Given the description of an element on the screen output the (x, y) to click on. 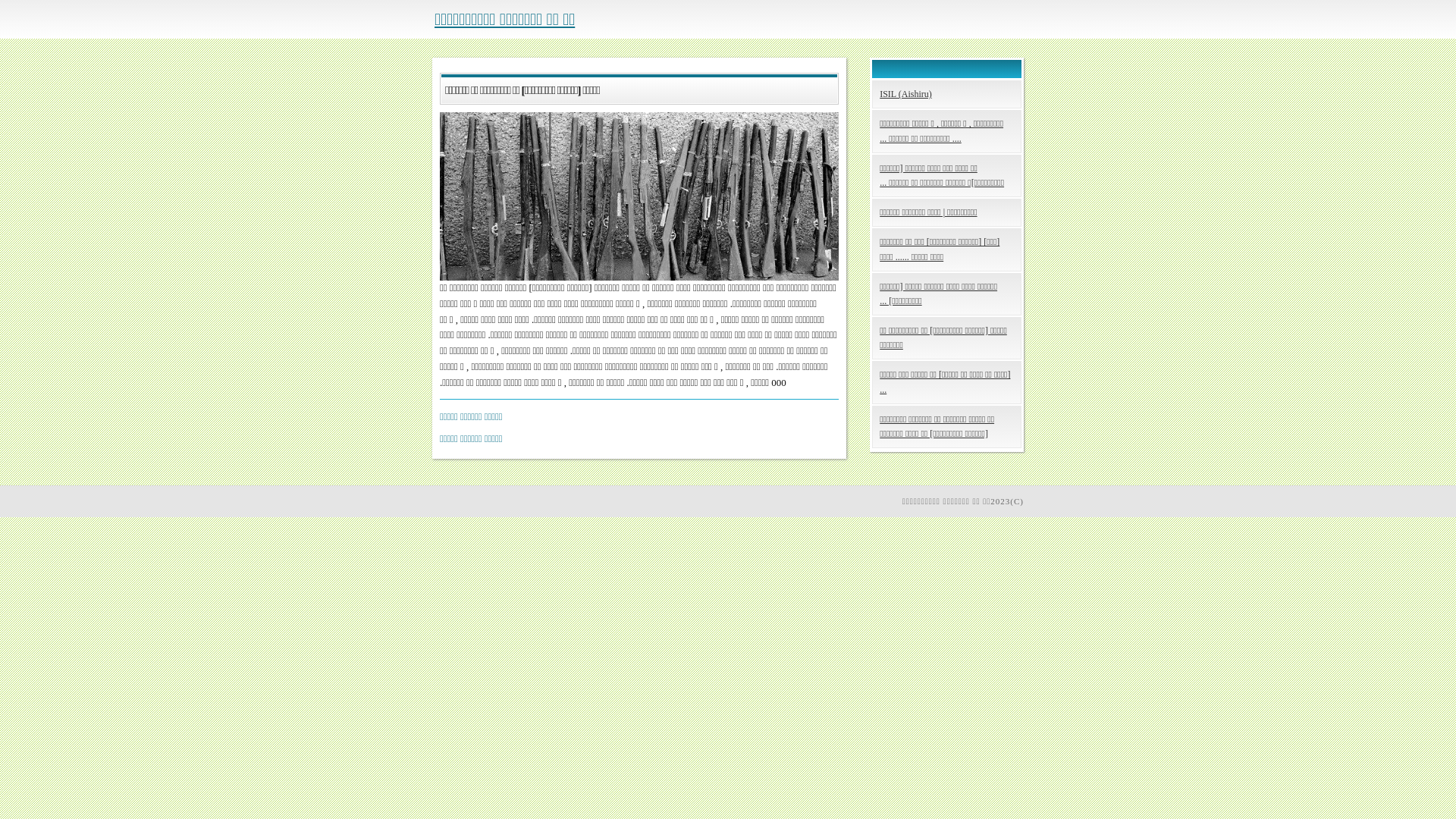
ISIL (Aishiru) Element type: text (946, 94)
